Given the description of an element on the screen output the (x, y) to click on. 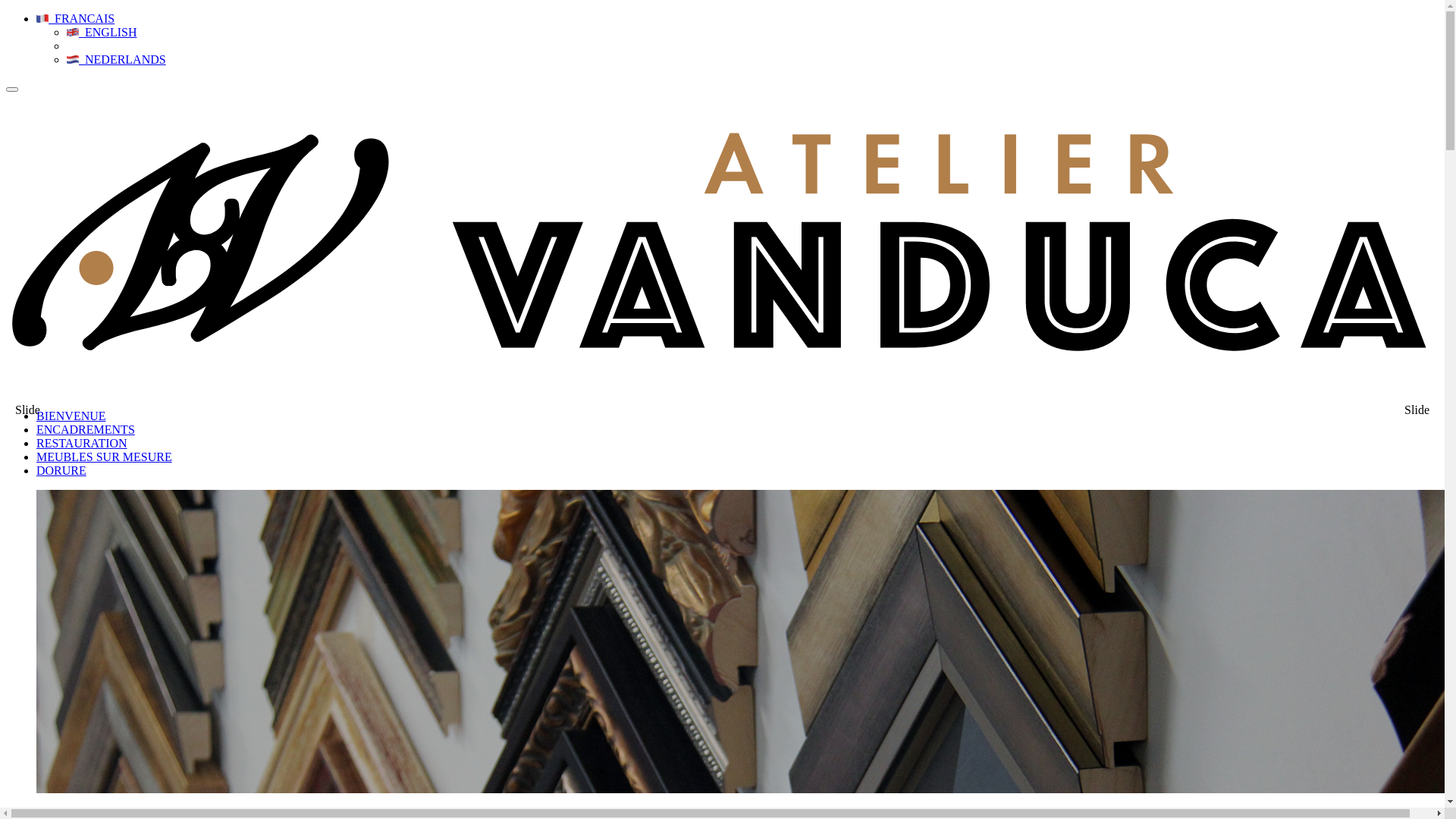
RESTAURATION Element type: text (81, 442)
  NEDERLANDS Element type: text (116, 59)
  FRANCAIS Element type: text (75, 18)
MEUBLES SUR MESURE Element type: text (104, 456)
  ENGLISH Element type: text (101, 31)
BIENVENUE Element type: text (71, 415)
ENCADREMENTS Element type: text (85, 429)
DORURE Element type: text (61, 470)
